Given the description of an element on the screen output the (x, y) to click on. 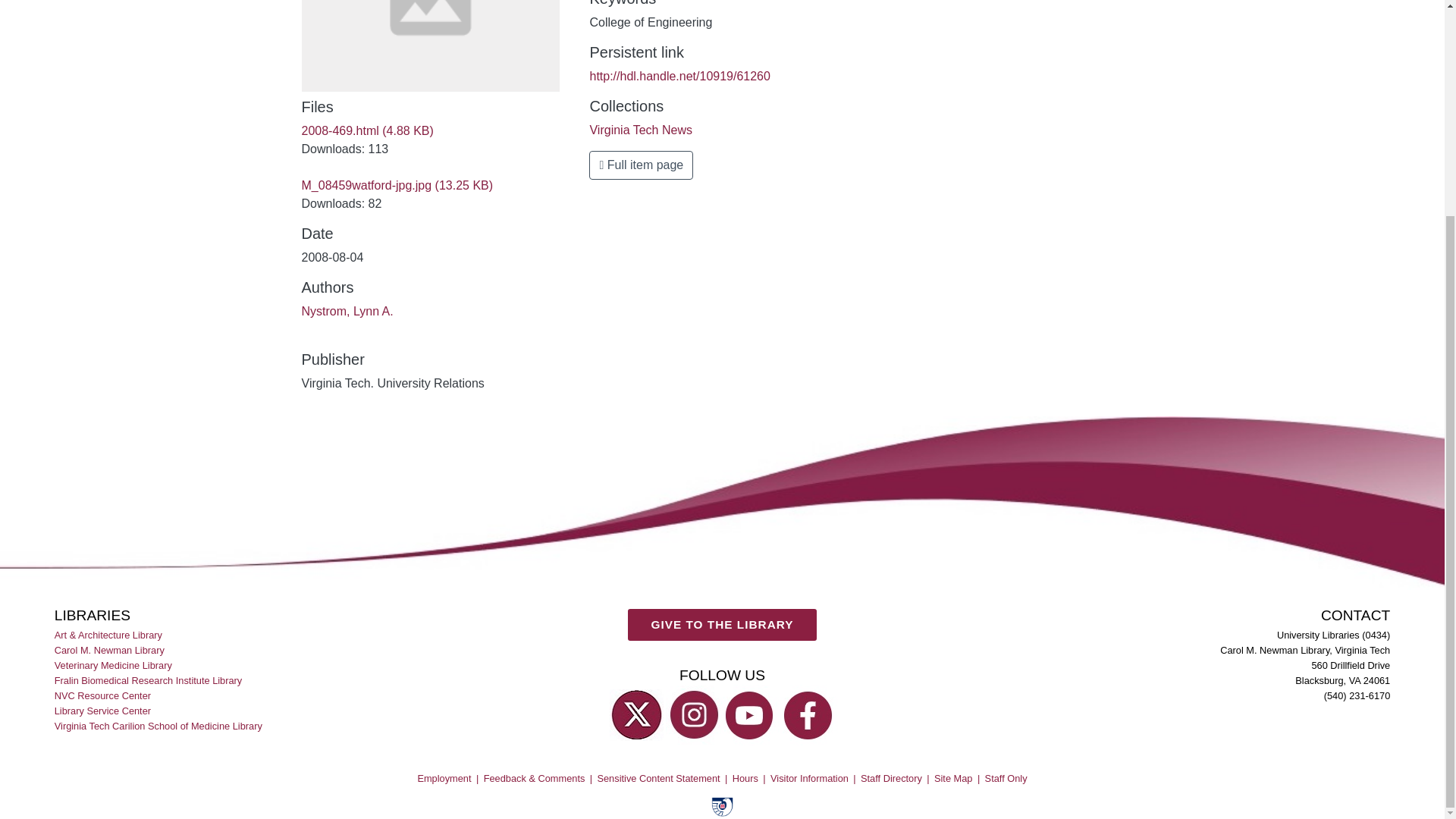
Virginia Tech News (640, 129)
Carol M. Newman Library (111, 649)
Veterinary Medicine Library (114, 664)
Full item page (641, 164)
Library Service Center (103, 711)
Nystrom, Lynn A. (347, 310)
Fralin Biomedical Research Institute Library (149, 679)
NVC Resource Center (103, 694)
